Given the description of an element on the screen output the (x, y) to click on. 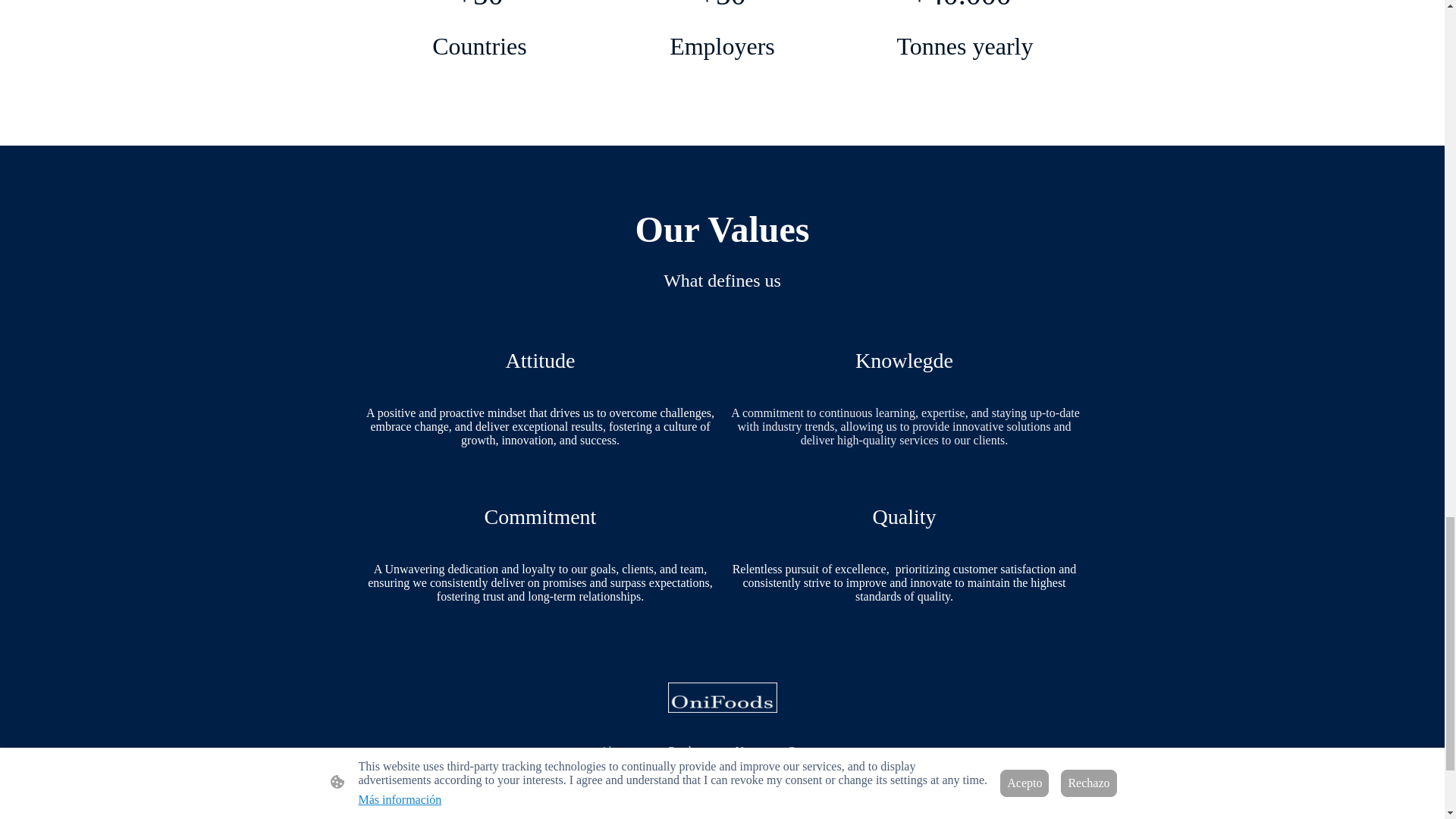
News (748, 751)
Products (689, 751)
Contact us (811, 751)
About us (621, 751)
